Given the description of an element on the screen output the (x, y) to click on. 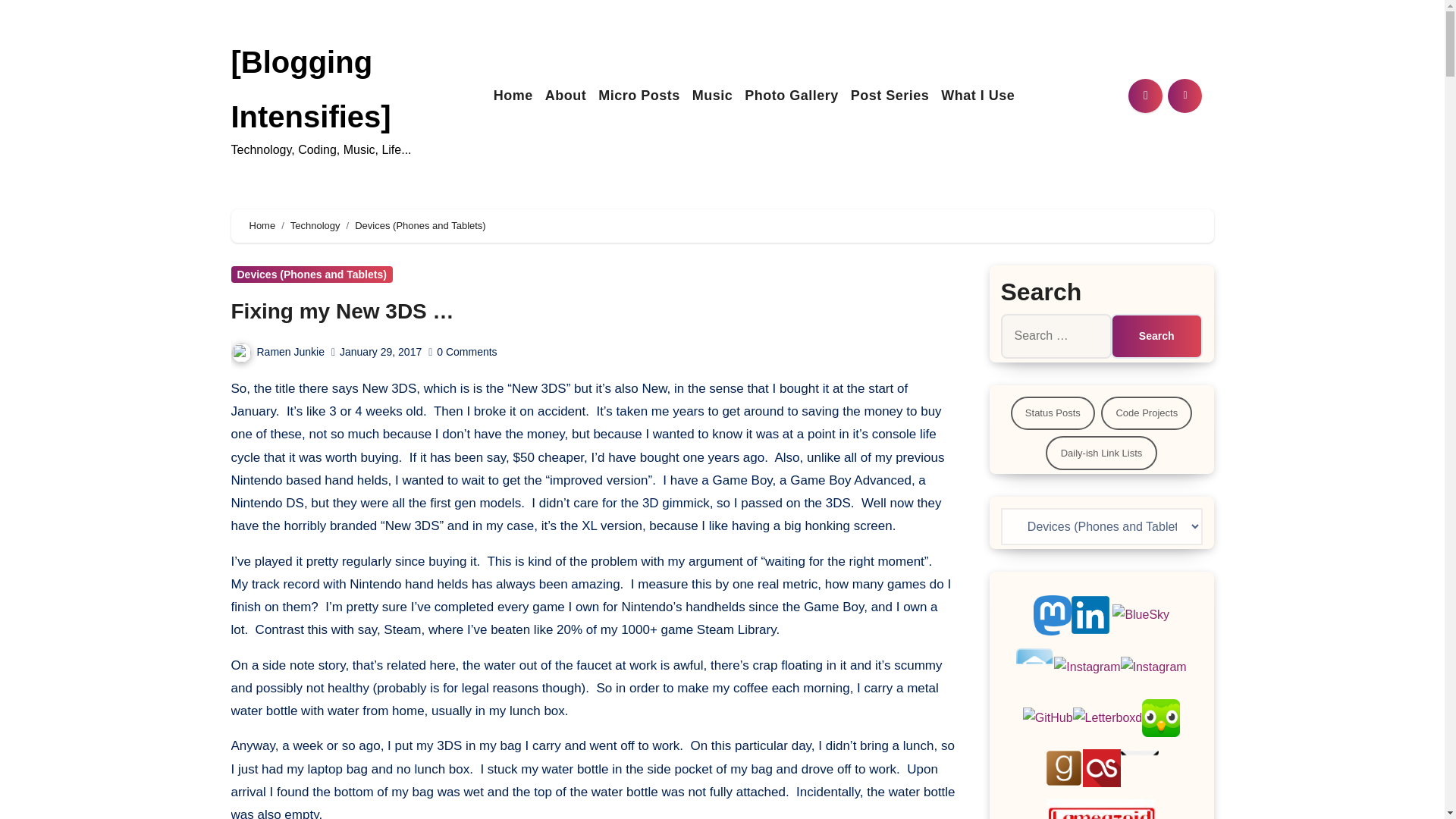
Ramen Junkie (277, 351)
Technology (314, 225)
Photo Gallery (791, 95)
Music (712, 95)
Home (512, 95)
Search (1156, 335)
January 29, 2017 (380, 351)
What I Use (977, 95)
Micro Posts (638, 95)
Post Series (890, 95)
Home (261, 225)
About (565, 95)
0 Comments (466, 351)
Home (512, 95)
Search (1156, 335)
